Given the description of an element on the screen output the (x, y) to click on. 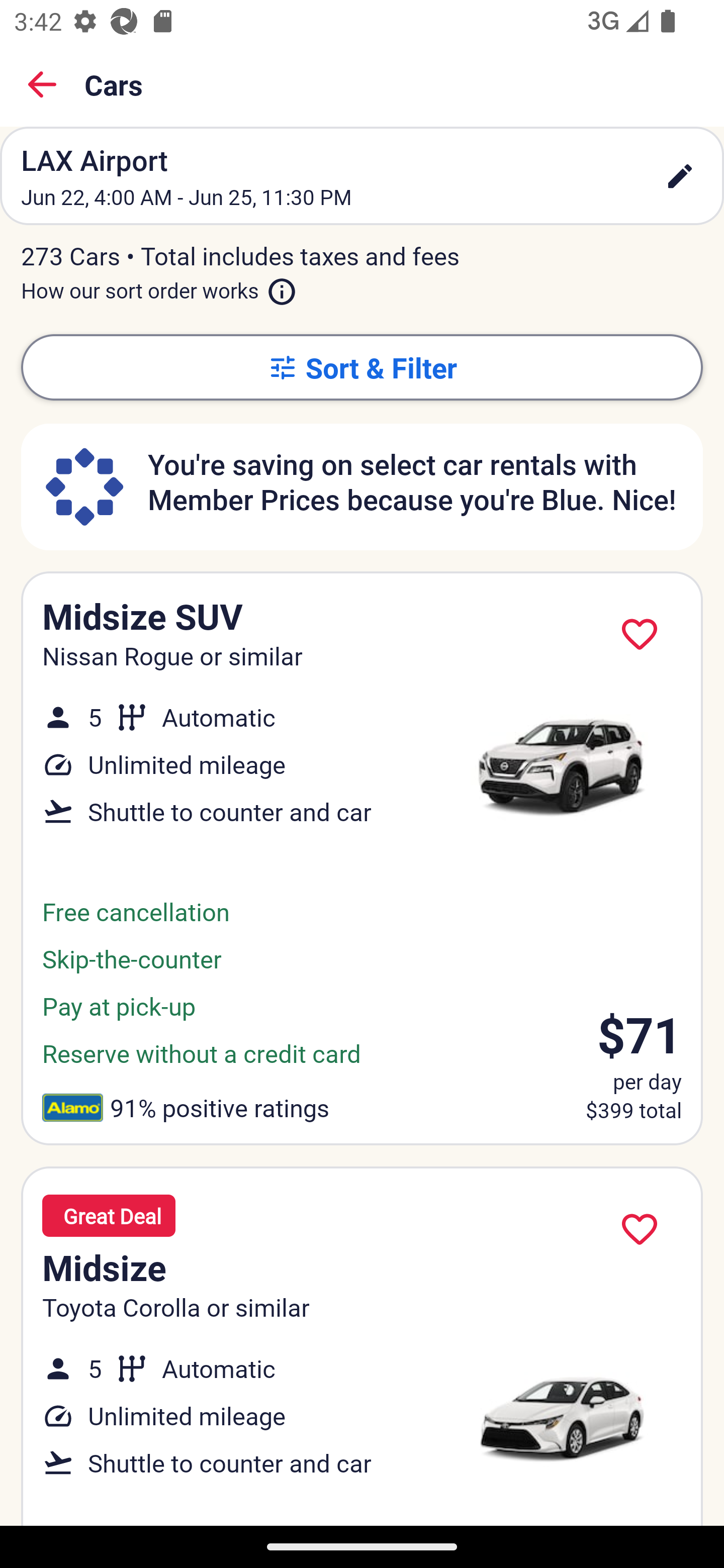
Back (42, 84)
edit (679, 175)
Sort & Filter (361, 366)
